Given the description of an element on the screen output the (x, y) to click on. 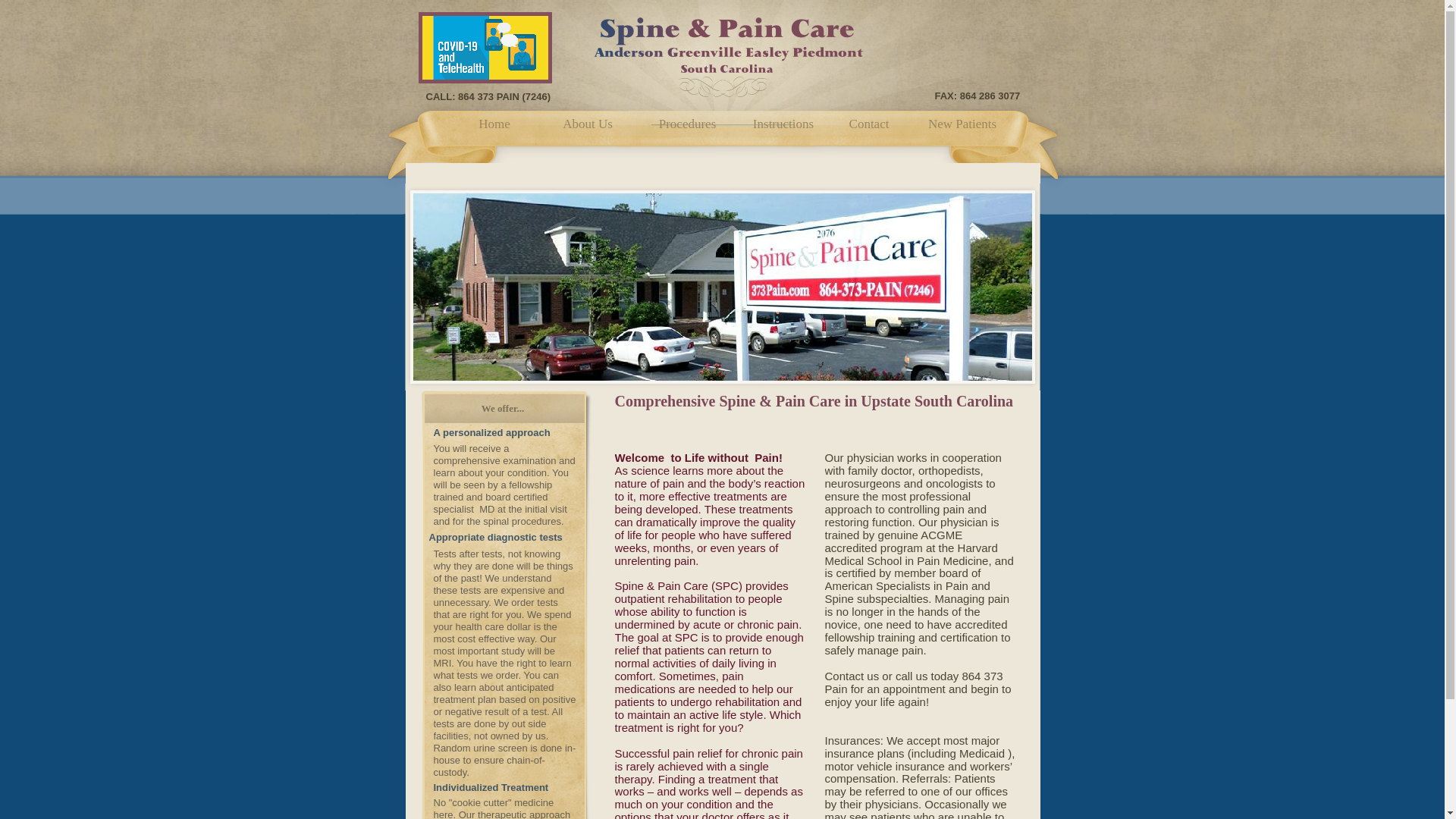
Instructions Element type: text (782, 125)
Procedures Element type: text (687, 125)
Home Element type: text (493, 125)
About Us Element type: text (587, 125)
Contact Element type: text (868, 125)
New Patients Element type: text (962, 125)
